Given the description of an element on the screen output the (x, y) to click on. 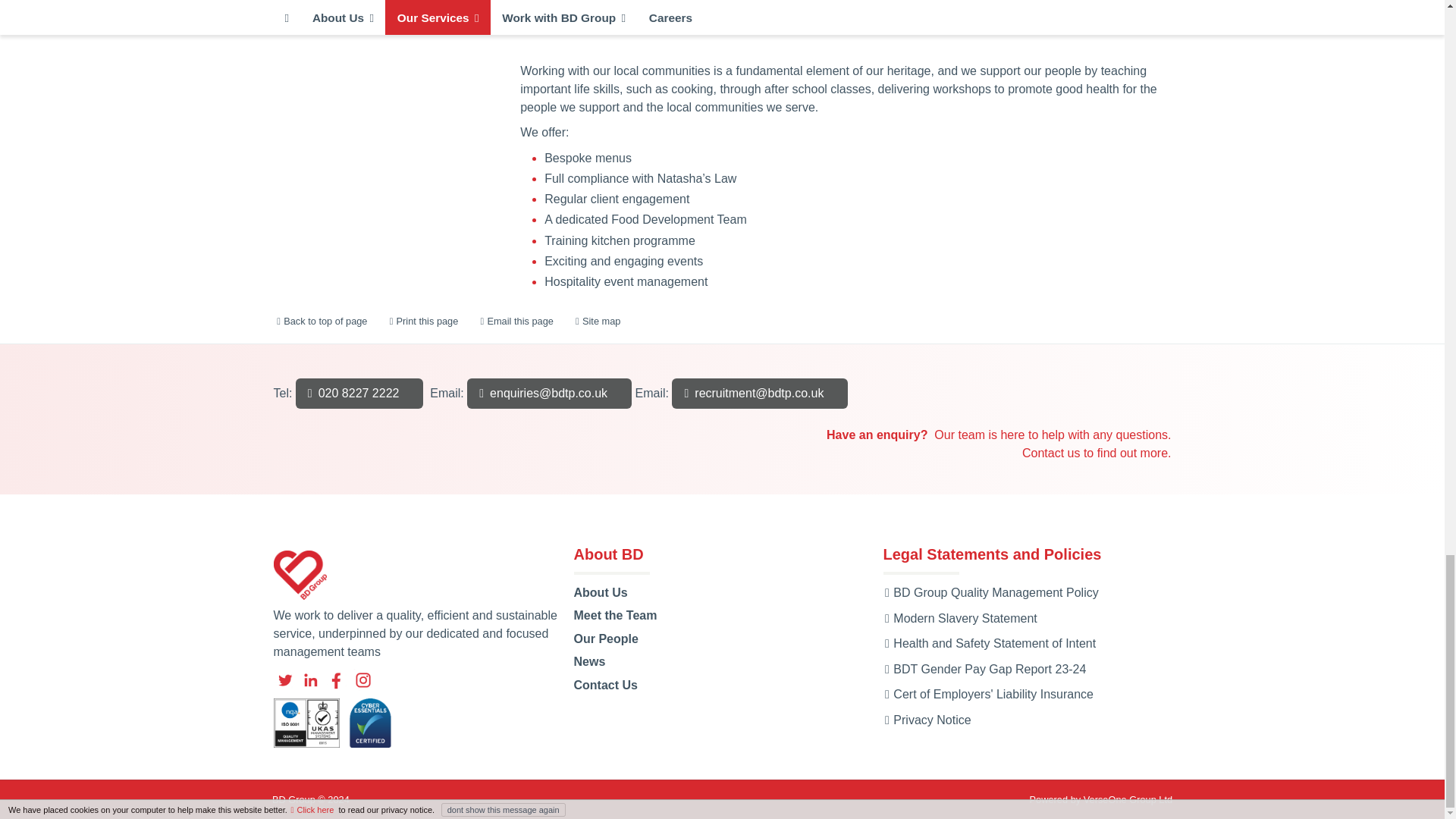
download this document in a new window (984, 668)
download this document in a new window (959, 617)
download this document in a new window (987, 694)
download this document in a new window (989, 592)
download this document in a new window (926, 719)
download this document in a new window (989, 643)
